Given the description of an element on the screen output the (x, y) to click on. 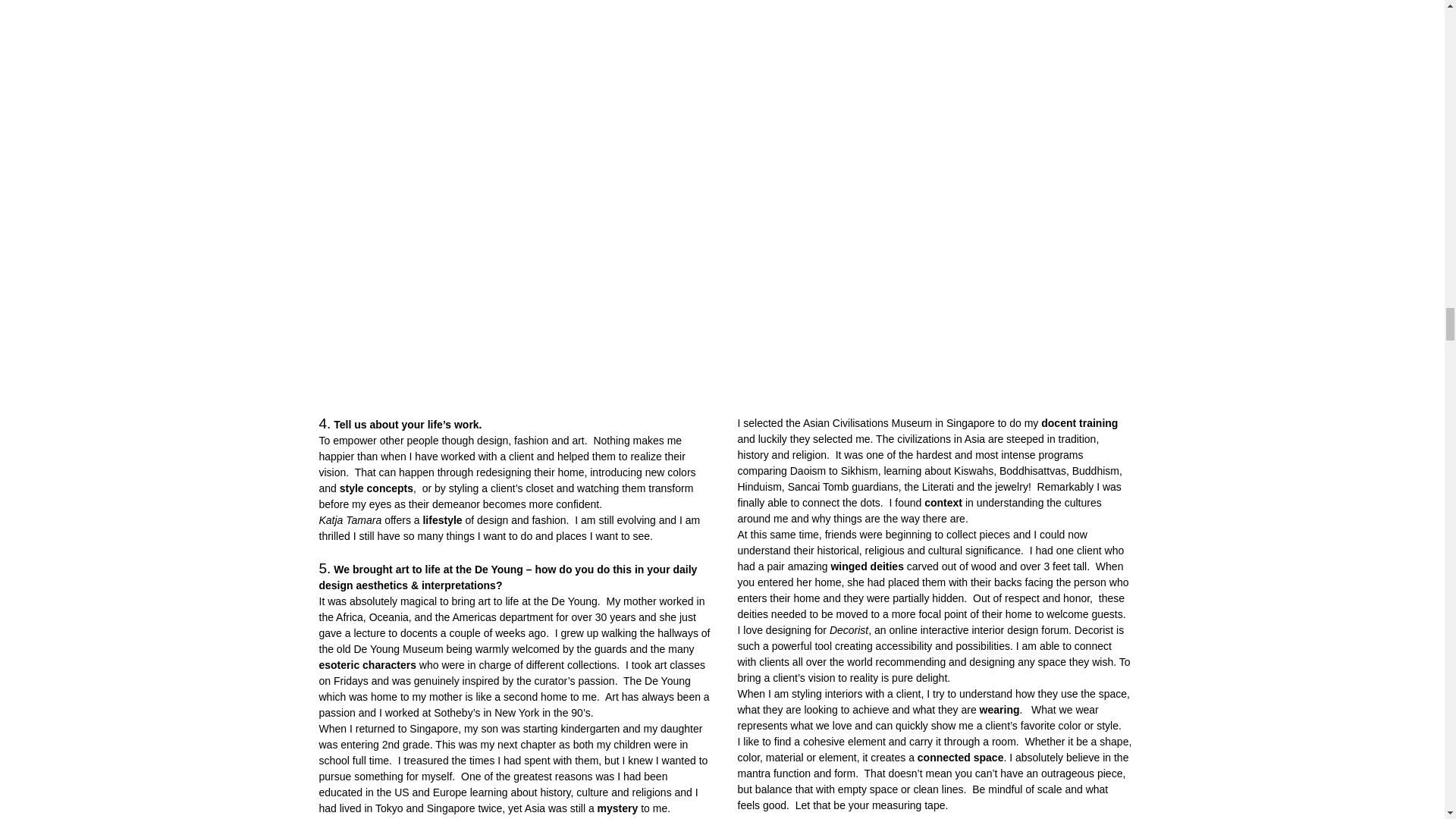
Katja Tamara (349, 520)
Decorist (848, 630)
